Given the description of an element on the screen output the (x, y) to click on. 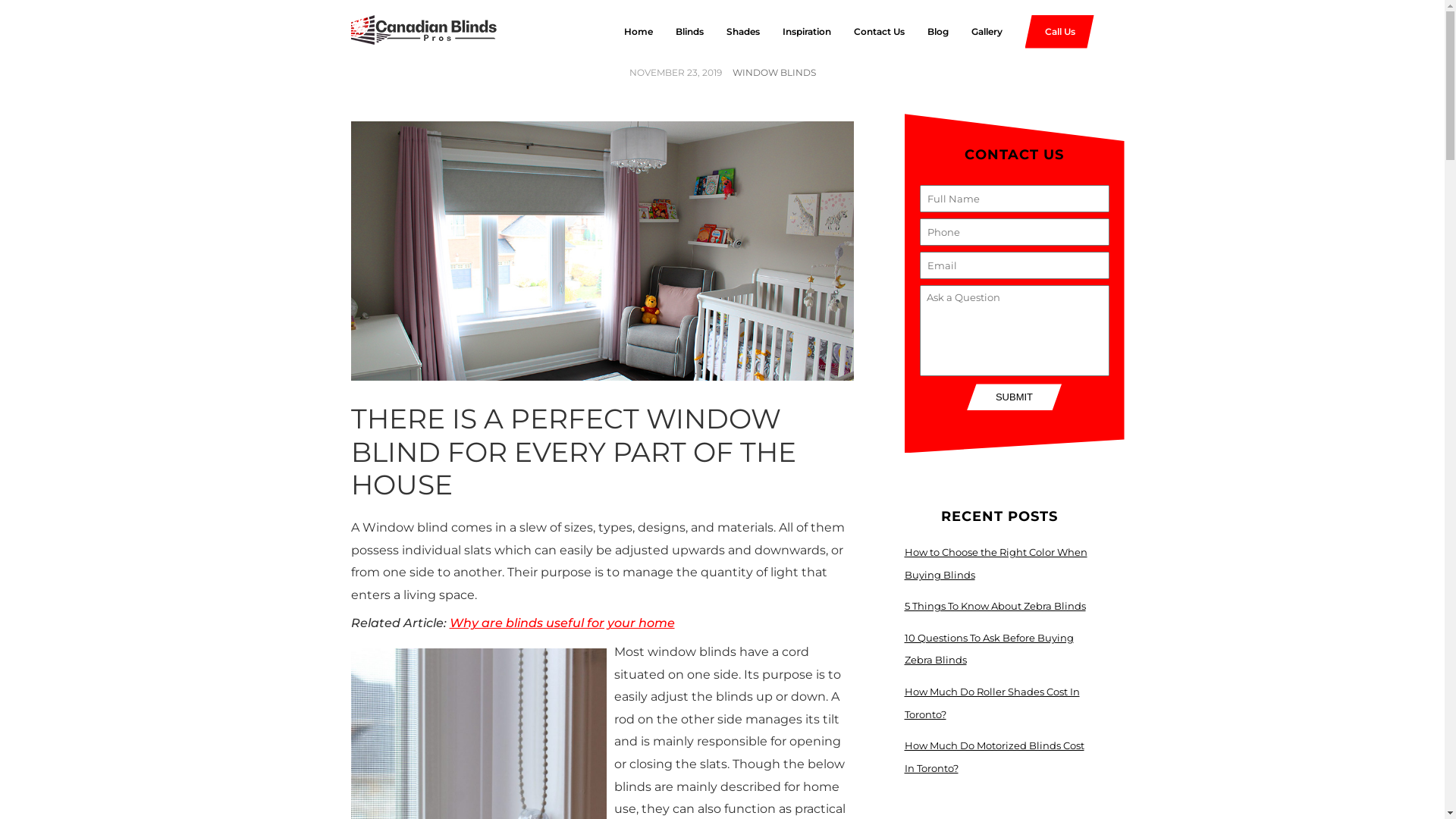
Blog Element type: text (925, 31)
5 Things To Know About Zebra Blinds Element type: text (994, 605)
SUBMIT Element type: text (1013, 396)
10 Questions To Ask Before Buying Zebra Blinds Element type: text (988, 648)
How Much Do Roller Shades Cost In Toronto? Element type: text (991, 702)
Call Us Element type: text (1059, 31)
Home Element type: text (626, 31)
Contact Us Element type: text (867, 31)
How to Choose the Right Color When Buying Blinds Element type: text (994, 563)
Blinds Element type: text (677, 31)
Why are blinds useful for your home Element type: text (561, 622)
How Much Do Motorized Blinds Cost In Toronto? Element type: text (993, 756)
Shades Element type: text (731, 31)
Gallery Element type: text (974, 31)
WINDOW BLINDS Element type: text (773, 72)
Inspiration Element type: text (795, 31)
